Given the description of an element on the screen output the (x, y) to click on. 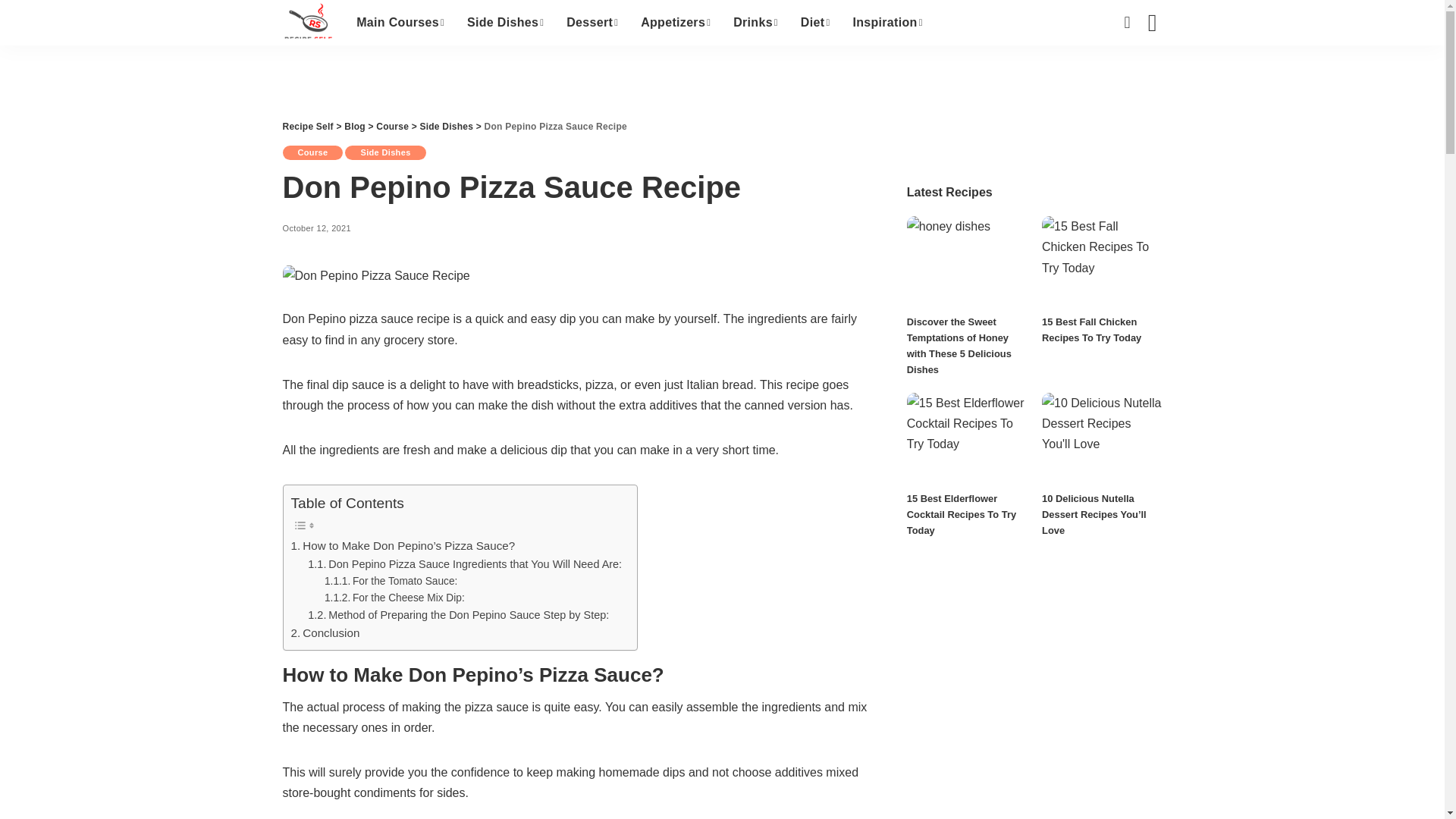
Recipe Self (307, 22)
